Given the description of an element on the screen output the (x, y) to click on. 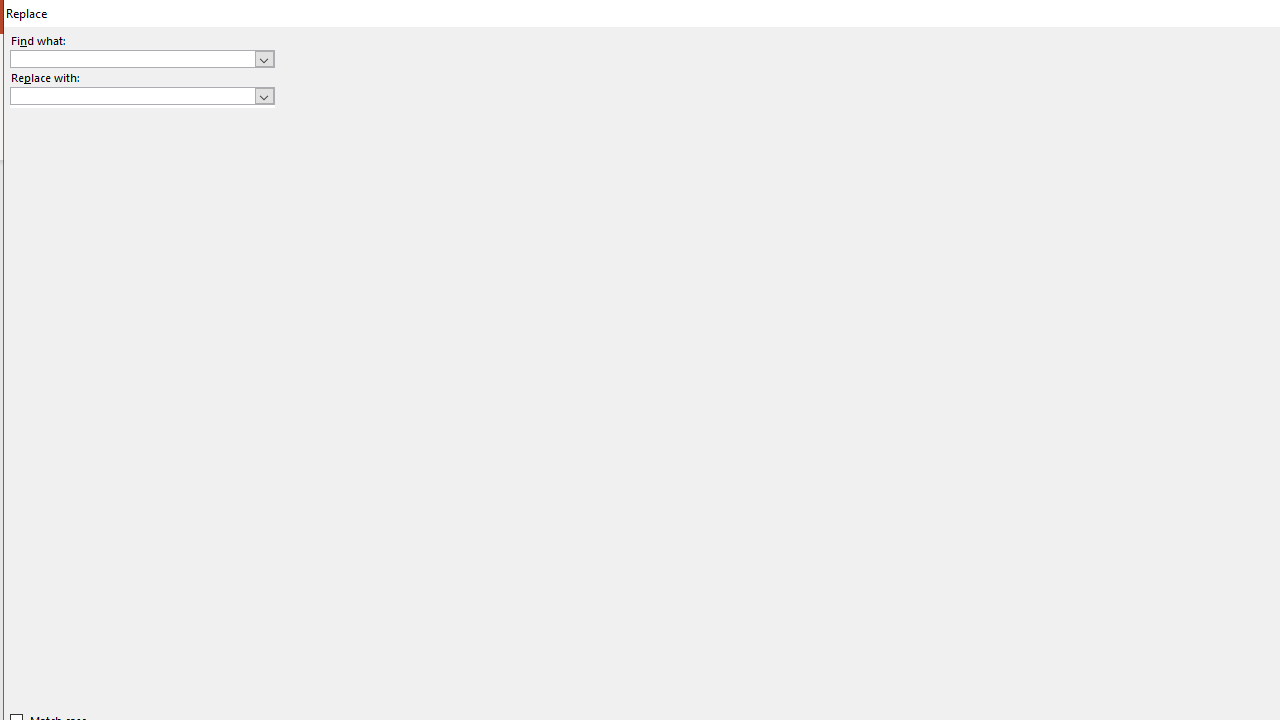
Find what (132, 58)
Replace with (142, 96)
Replace with (132, 95)
Find what (142, 58)
